Given the description of an element on the screen output the (x, y) to click on. 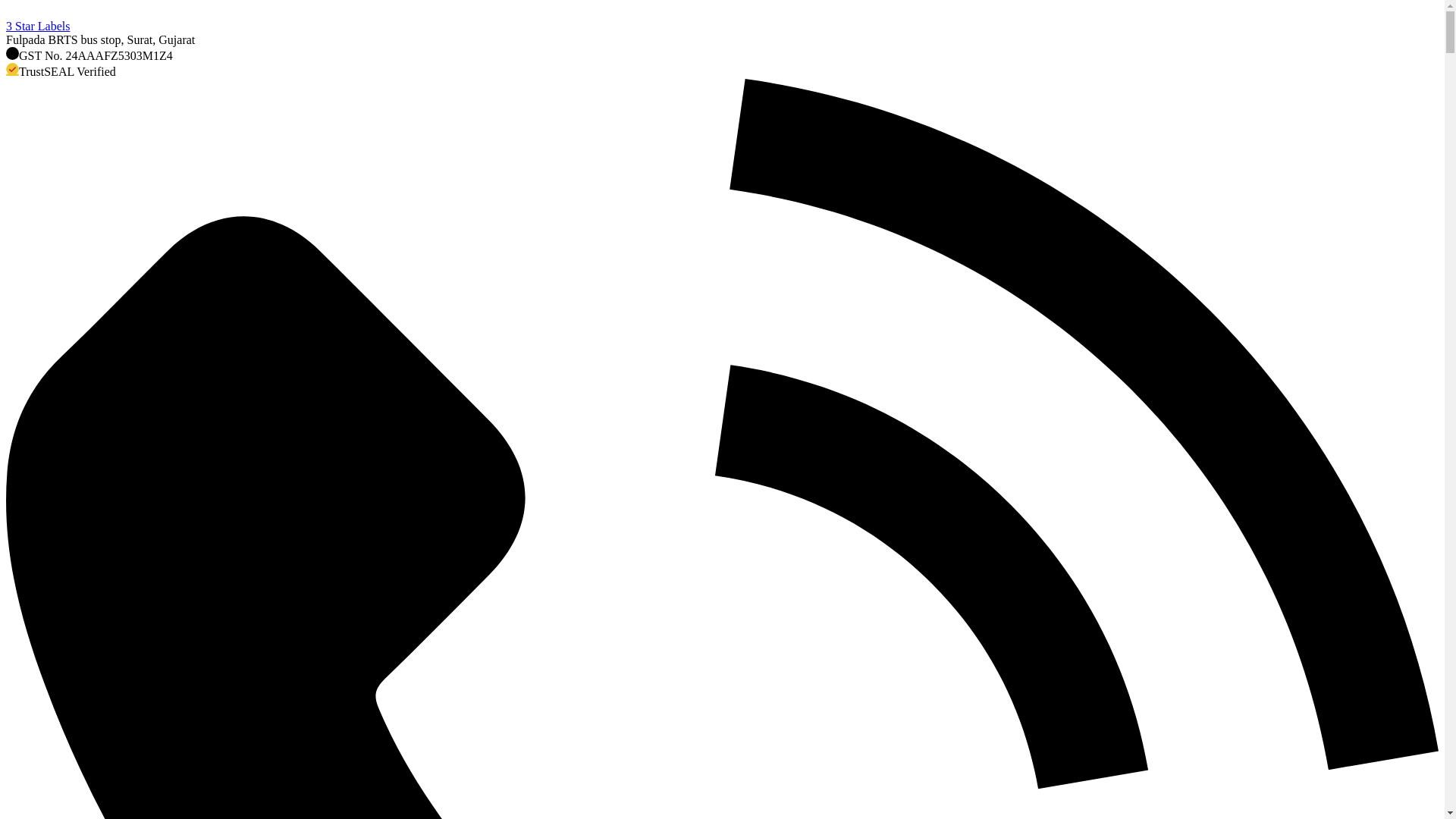
TrustSEAL Verified Element type: text (722, 70)
3 Star Labels Element type: text (722, 26)
